Given the description of an element on the screen output the (x, y) to click on. 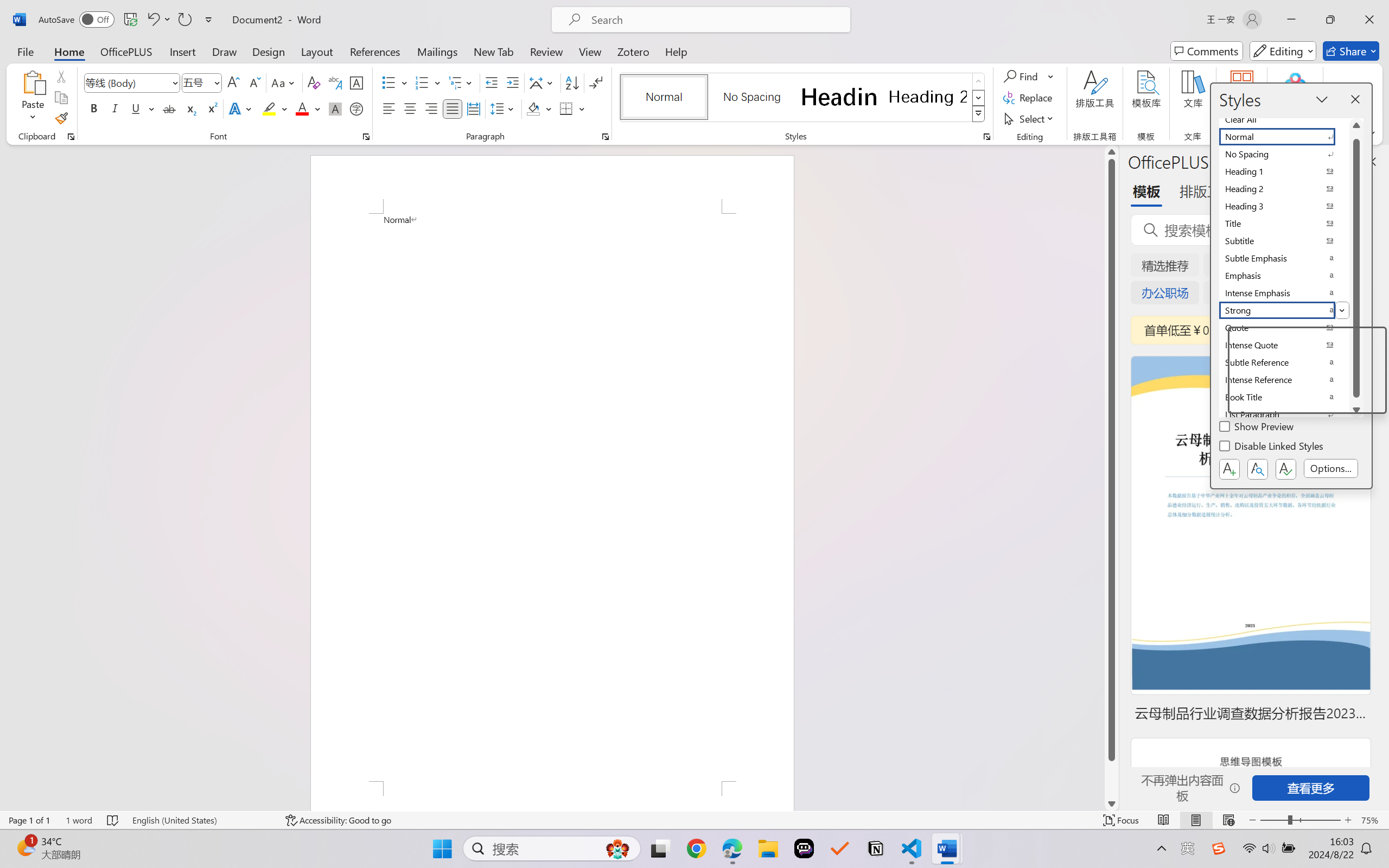
Bullets (395, 82)
Line down (1111, 803)
Zoom (1300, 819)
Review (546, 51)
Text Highlight Color (274, 108)
Row up (978, 81)
Language English (United States) (201, 819)
List Paragraph (1283, 414)
Text Effects and Typography (241, 108)
Font... (365, 136)
Shrink Font (253, 82)
Repeat Doc Close (184, 19)
